Given the description of an element on the screen output the (x, y) to click on. 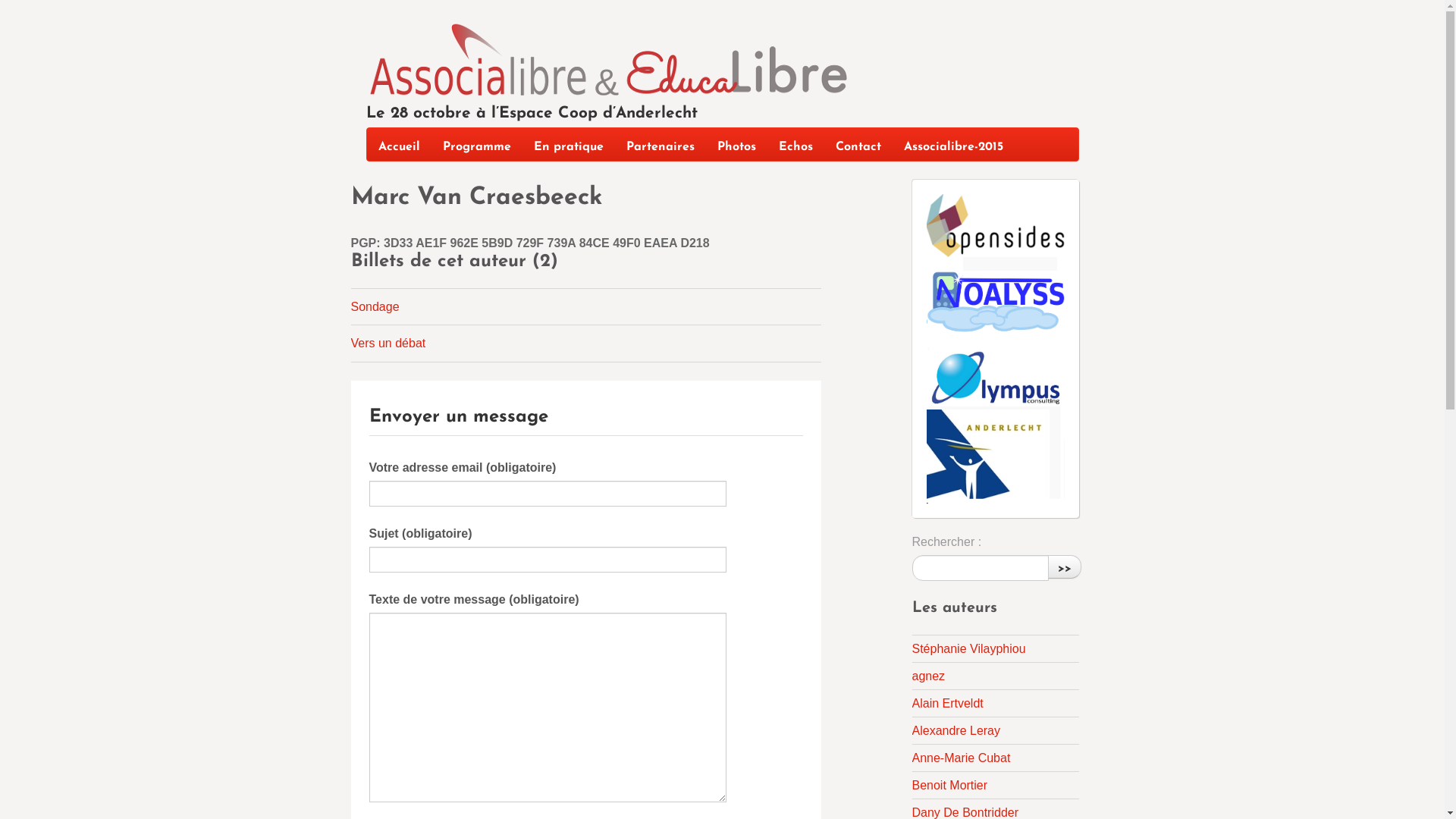
>> Element type: text (1064, 567)
Echos Element type: text (795, 144)
Benoit Mortier Element type: text (949, 784)
Contact Element type: text (857, 144)
Programme Element type: text (475, 144)
Sondage Element type: text (374, 306)
Voir nos partenaires Element type: hover (995, 348)
Photos Element type: text (735, 144)
agnez Element type: text (927, 675)
Partenaires Element type: text (659, 144)
Alexandre Leray Element type: text (955, 730)
Alain Ertveldt Element type: text (946, 702)
Associalibre-2015 Element type: text (952, 144)
Accueil Element type: text (399, 144)
En pratique Element type: text (567, 144)
Anne-Marie Cubat Element type: text (960, 757)
